Given the description of an element on the screen output the (x, y) to click on. 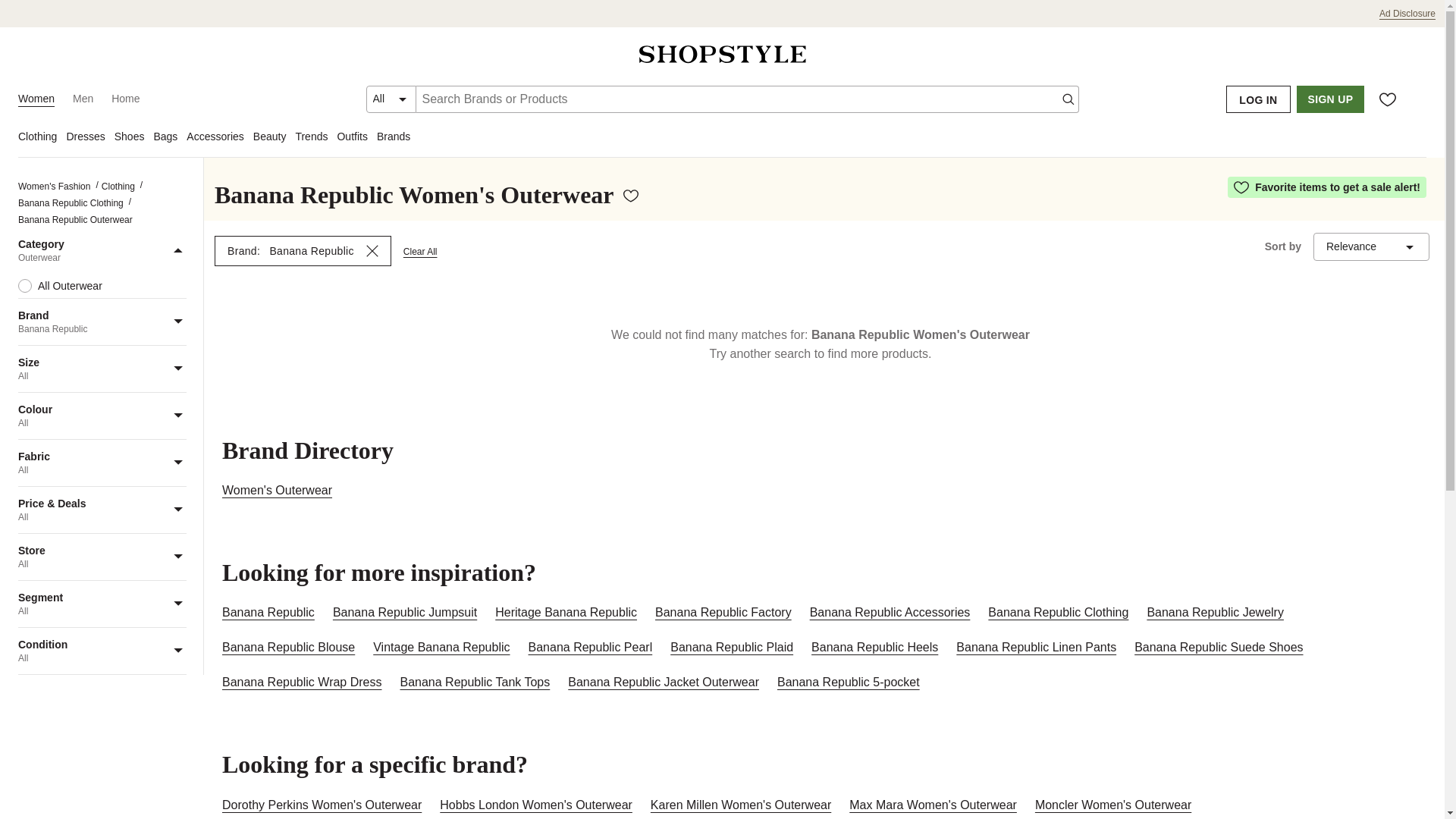
Men (82, 98)
Clothing For Women (118, 185)
Women (36, 98)
SIGN UP (1330, 99)
Outfits (355, 137)
Category (101, 262)
Dresses (89, 137)
Ad Disclosure (1406, 13)
Clothing (41, 137)
Size (101, 362)
Shoes (134, 137)
LOG IN (1257, 99)
Brand (101, 314)
Size (101, 369)
Global search input (746, 99)
